Given the description of an element on the screen output the (x, y) to click on. 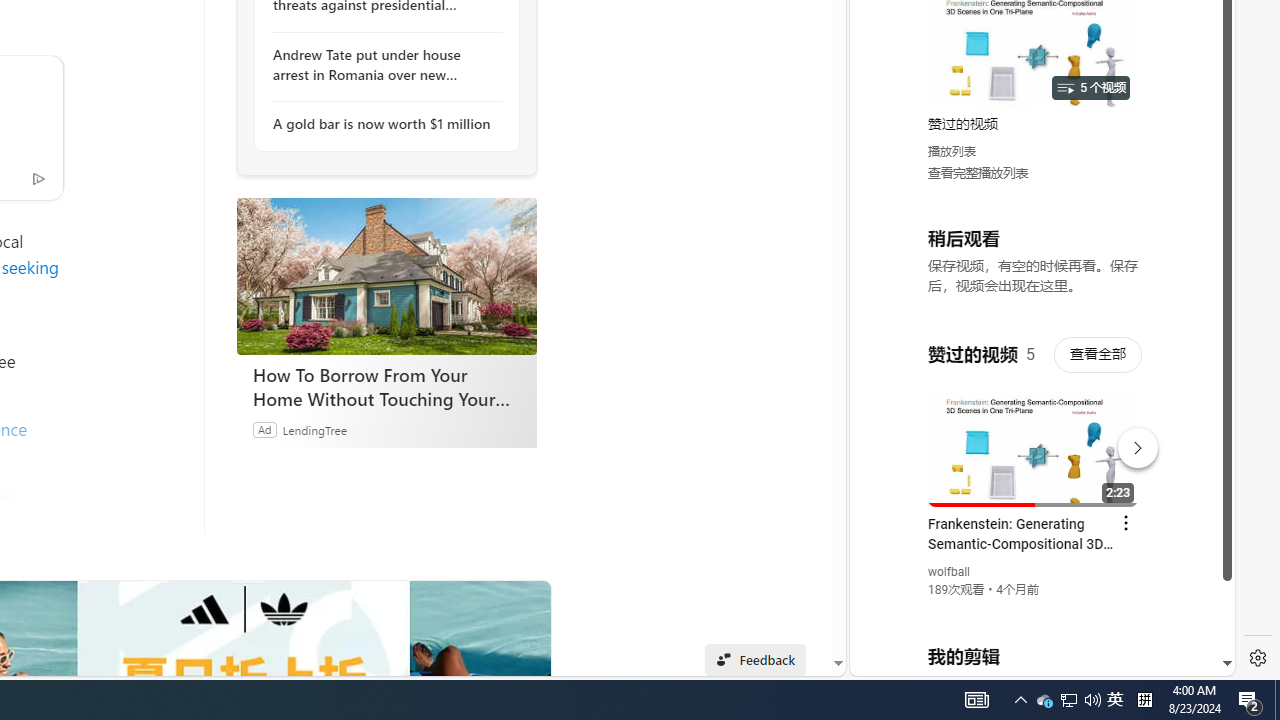
Feedback (755, 659)
